Given the description of an element on the screen output the (x, y) to click on. 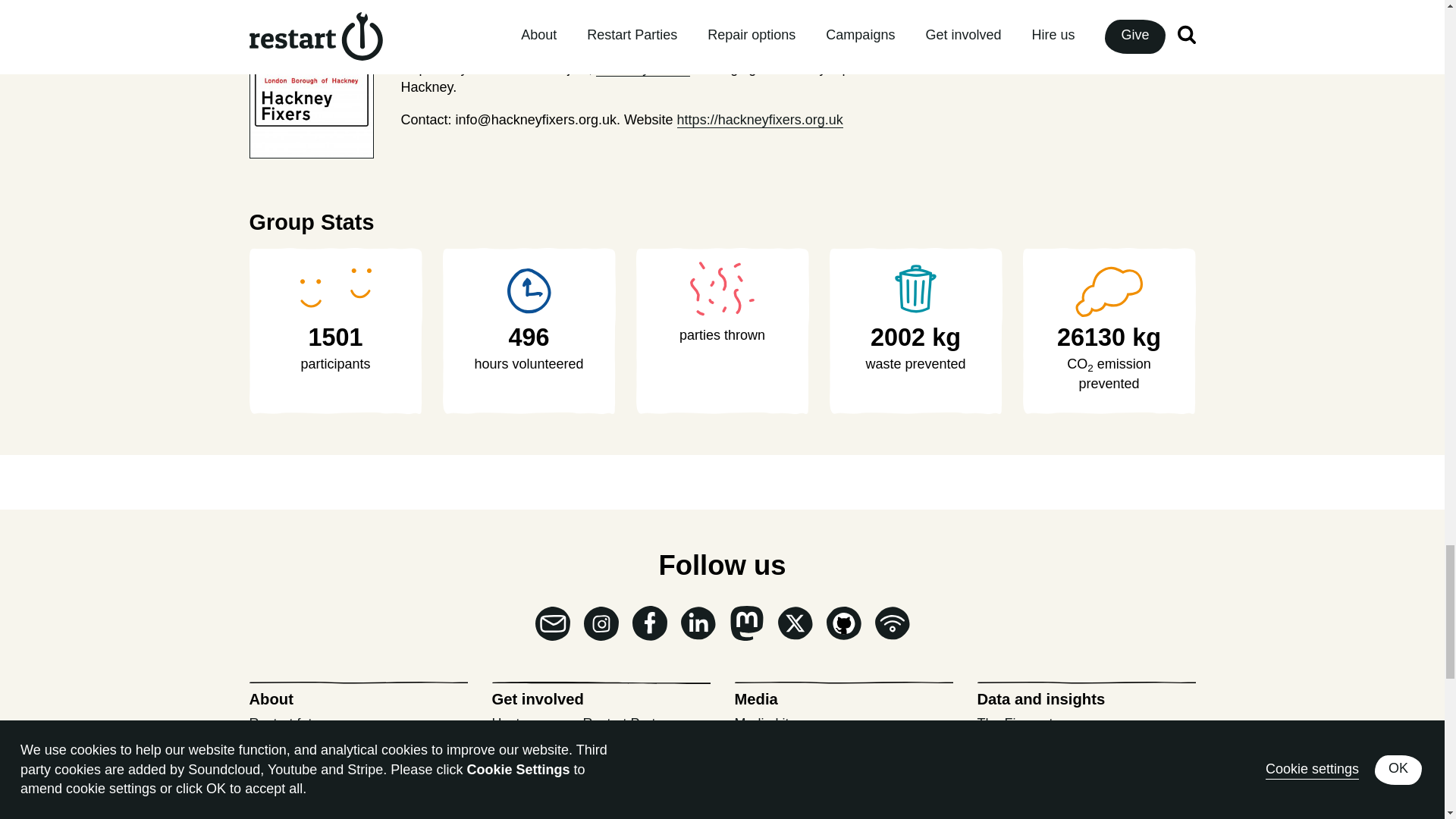
Hackney Fixers (642, 68)
X (794, 623)
Annual reports (292, 749)
LinkedIn (698, 623)
Newsletter (552, 623)
Jobs (263, 801)
RSS (892, 623)
X (794, 623)
Hackney Fixers (463, 44)
Mastodon (746, 623)
Instagram (600, 623)
Host your own Restart Party (577, 723)
Github (844, 623)
RSS (892, 623)
